Given the description of an element on the screen output the (x, y) to click on. 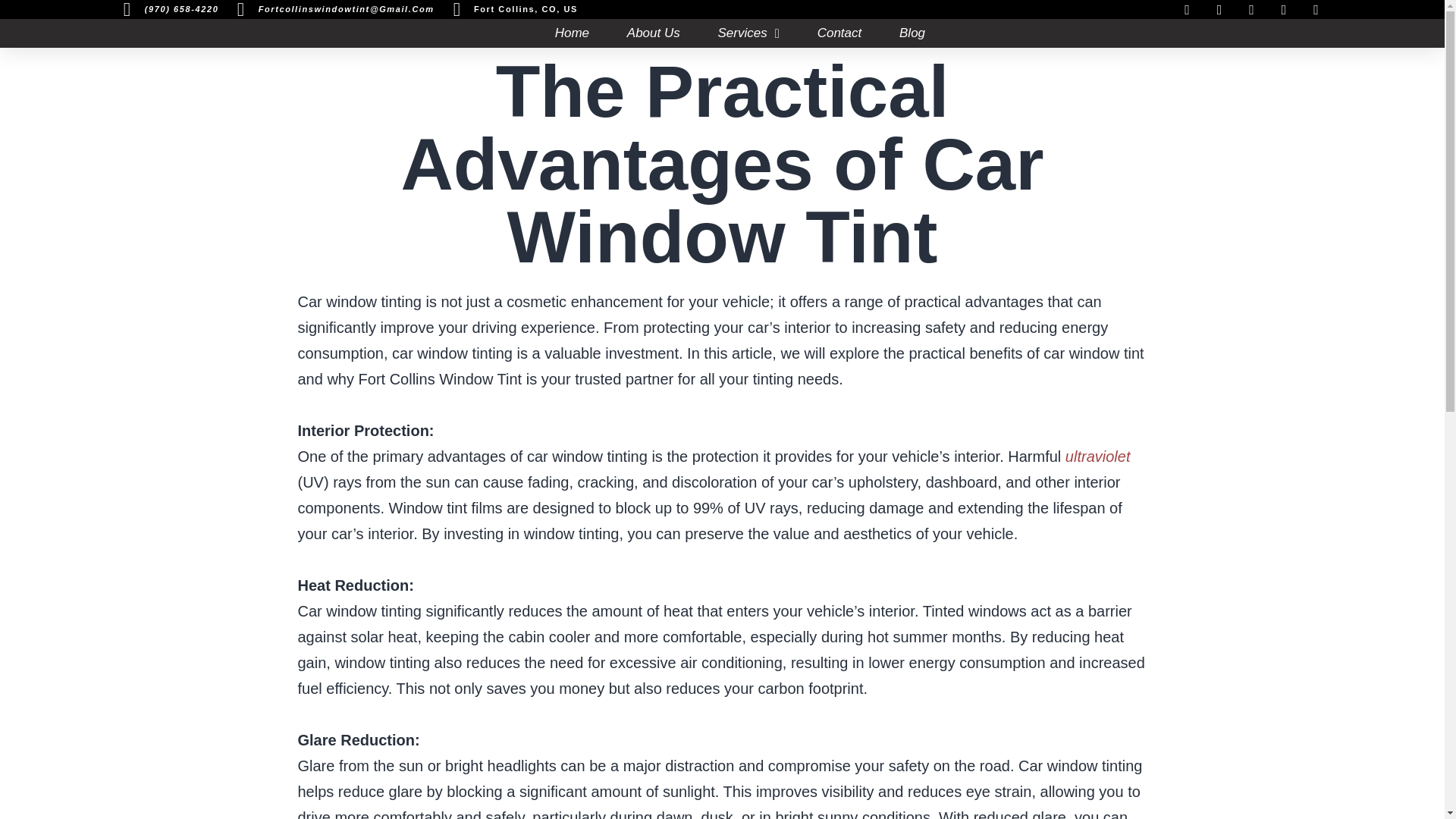
About Us (653, 32)
Services (747, 32)
Contact (838, 32)
Blog (911, 32)
Home (571, 32)
